Given the description of an element on the screen output the (x, y) to click on. 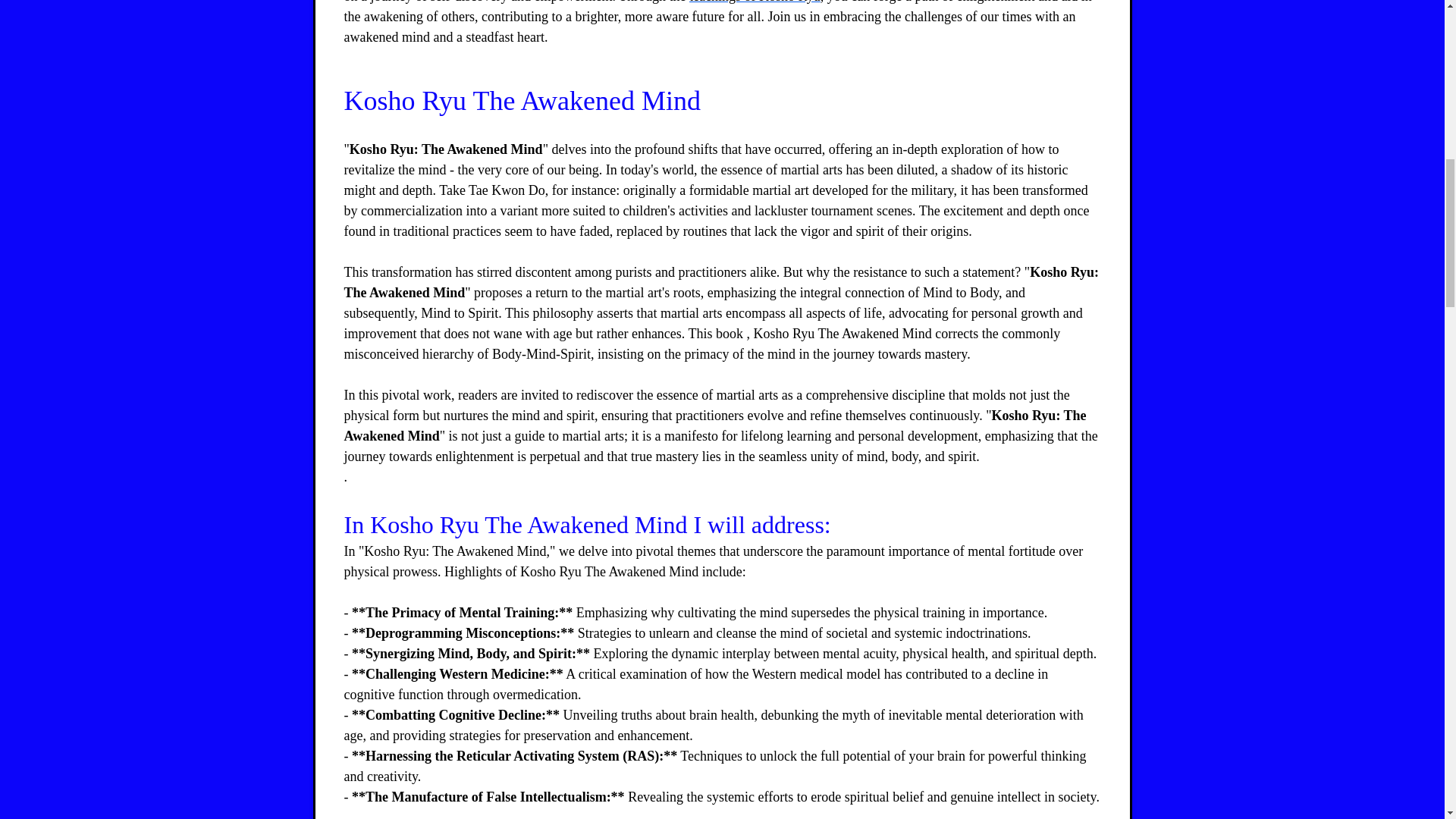
teachings of Kosho Ryu (754, 2)
